Given the description of an element on the screen output the (x, y) to click on. 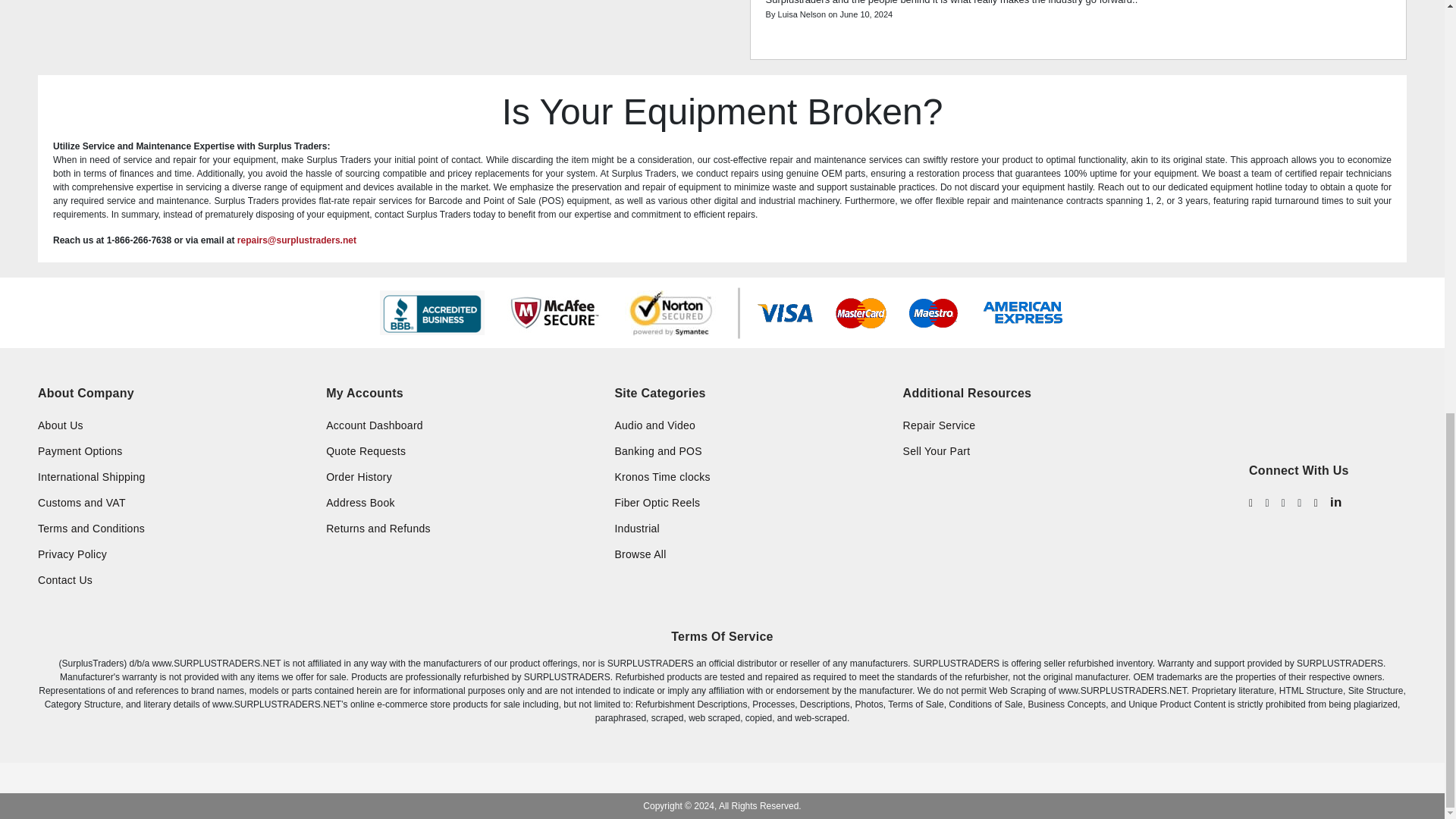
Mcafree Secure (553, 312)
American Express Logo (1021, 312)
International Shipping (174, 476)
Visa Logo (784, 313)
Payment Options (174, 451)
Maestro Logo (932, 312)
About Us (174, 425)
Master Card Logo (860, 313)
Accredited Business (430, 312)
Norton Secured (671, 312)
Customs and VAT (174, 502)
Terms and Conditions (174, 528)
